Given the description of an element on the screen output the (x, y) to click on. 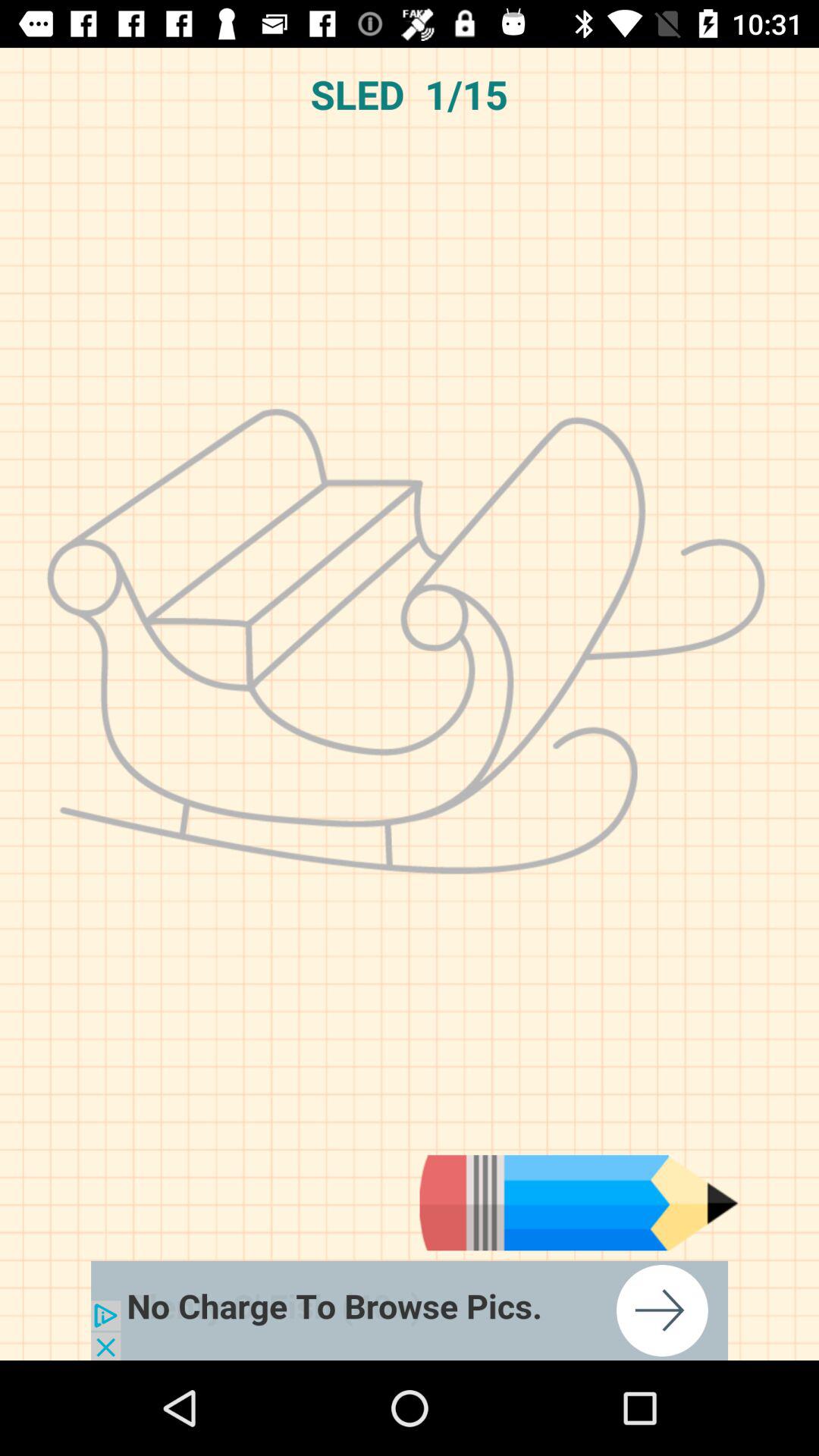
select pencil (578, 1202)
